Given the description of an element on the screen output the (x, y) to click on. 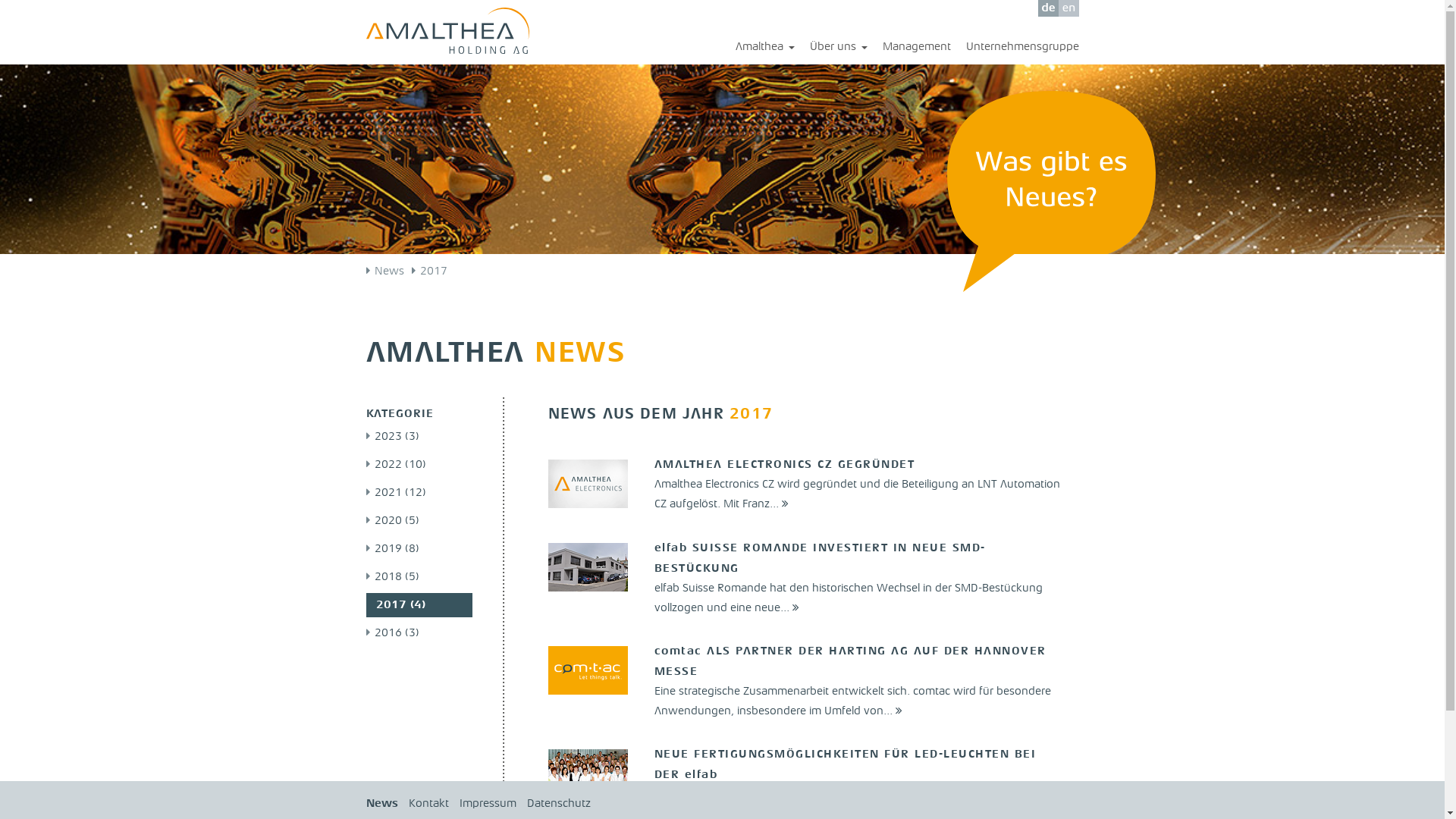
Unternehmensgruppe Element type: text (1014, 47)
comtac ALS PARTNER DER HARTING AG AUF DER HANNOVER MESSE Element type: text (849, 661)
Kontakt Element type: text (427, 803)
2017 (4) Element type: text (400, 605)
2023 (3) Element type: text (391, 436)
2017 Element type: text (432, 271)
News Element type: text (381, 803)
2021 (12) Element type: text (395, 492)
2020 (5) Element type: text (391, 521)
Impressum Element type: text (487, 803)
2022 (10) Element type: text (395, 464)
Datenschutz Element type: text (557, 803)
2019 (8) Element type: text (391, 549)
Management Element type: text (908, 47)
Was gibt es Neues? Element type: hover (1051, 177)
News Element type: text (388, 271)
2016 (3) Element type: text (391, 633)
+
Amalthea Element type: text (757, 47)
2018 (5) Element type: text (391, 577)
